Given the description of an element on the screen output the (x, y) to click on. 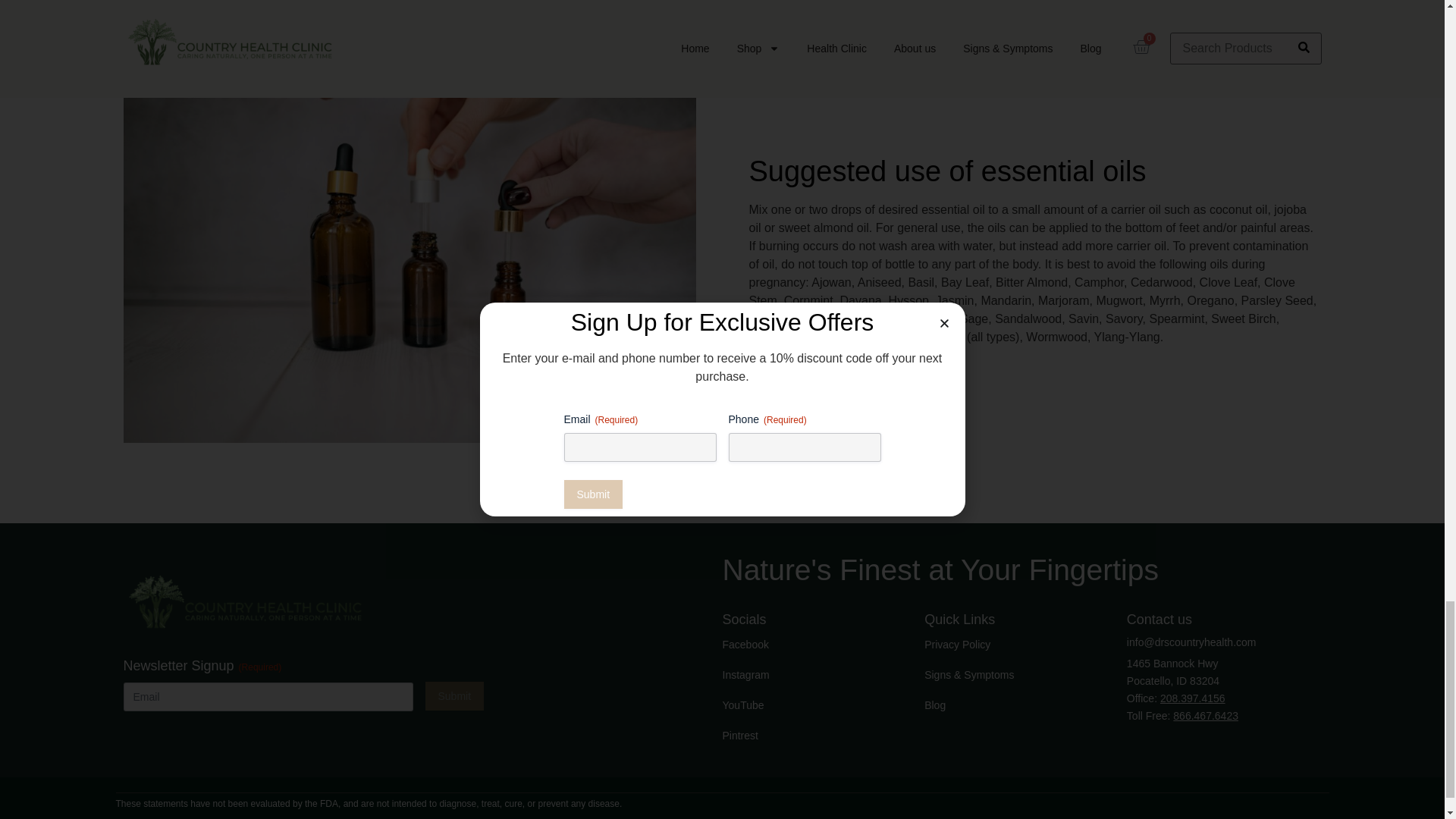
Submit (454, 695)
